Given the description of an element on the screen output the (x, y) to click on. 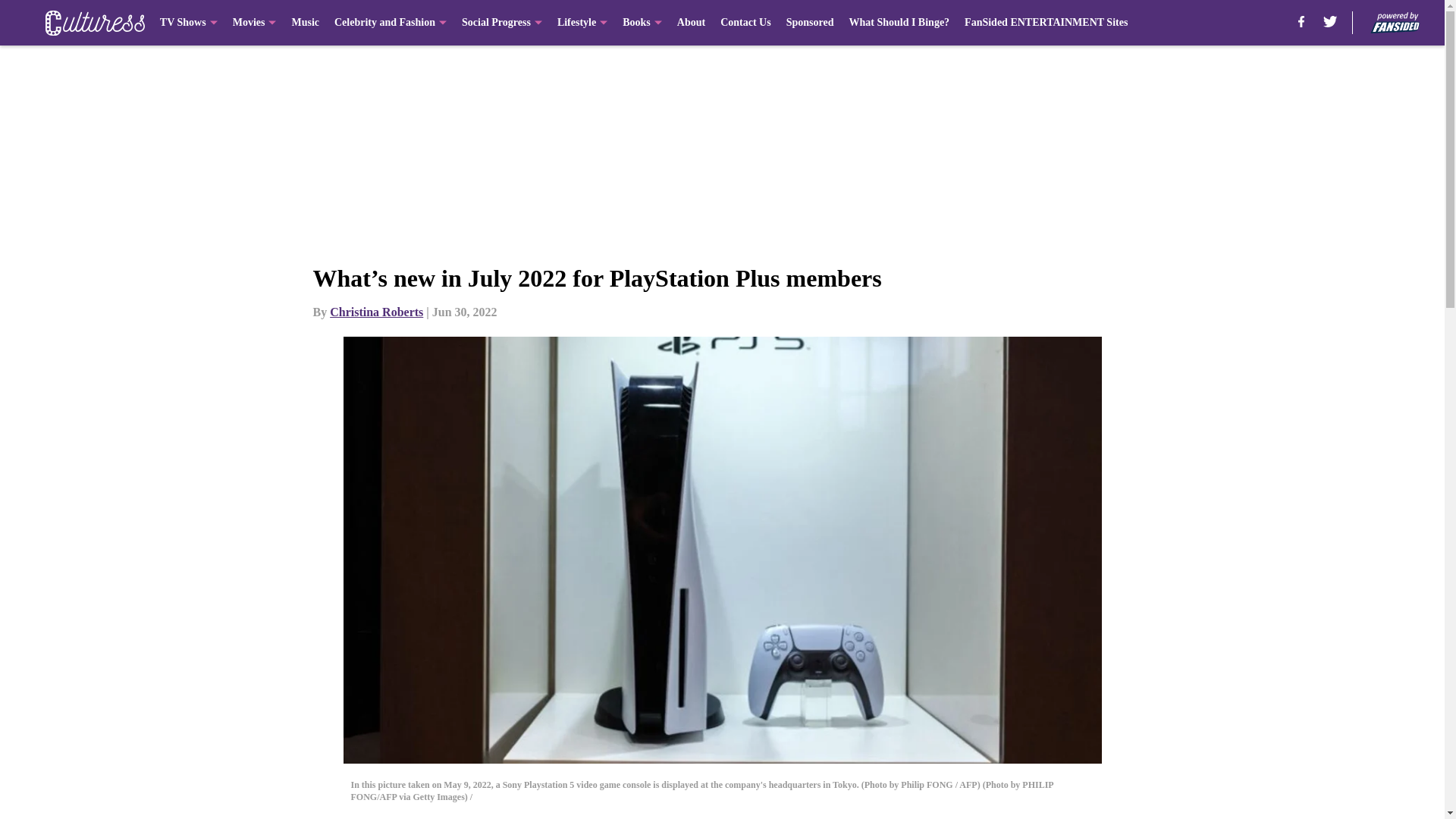
Music (304, 22)
